Given the description of an element on the screen output the (x, y) to click on. 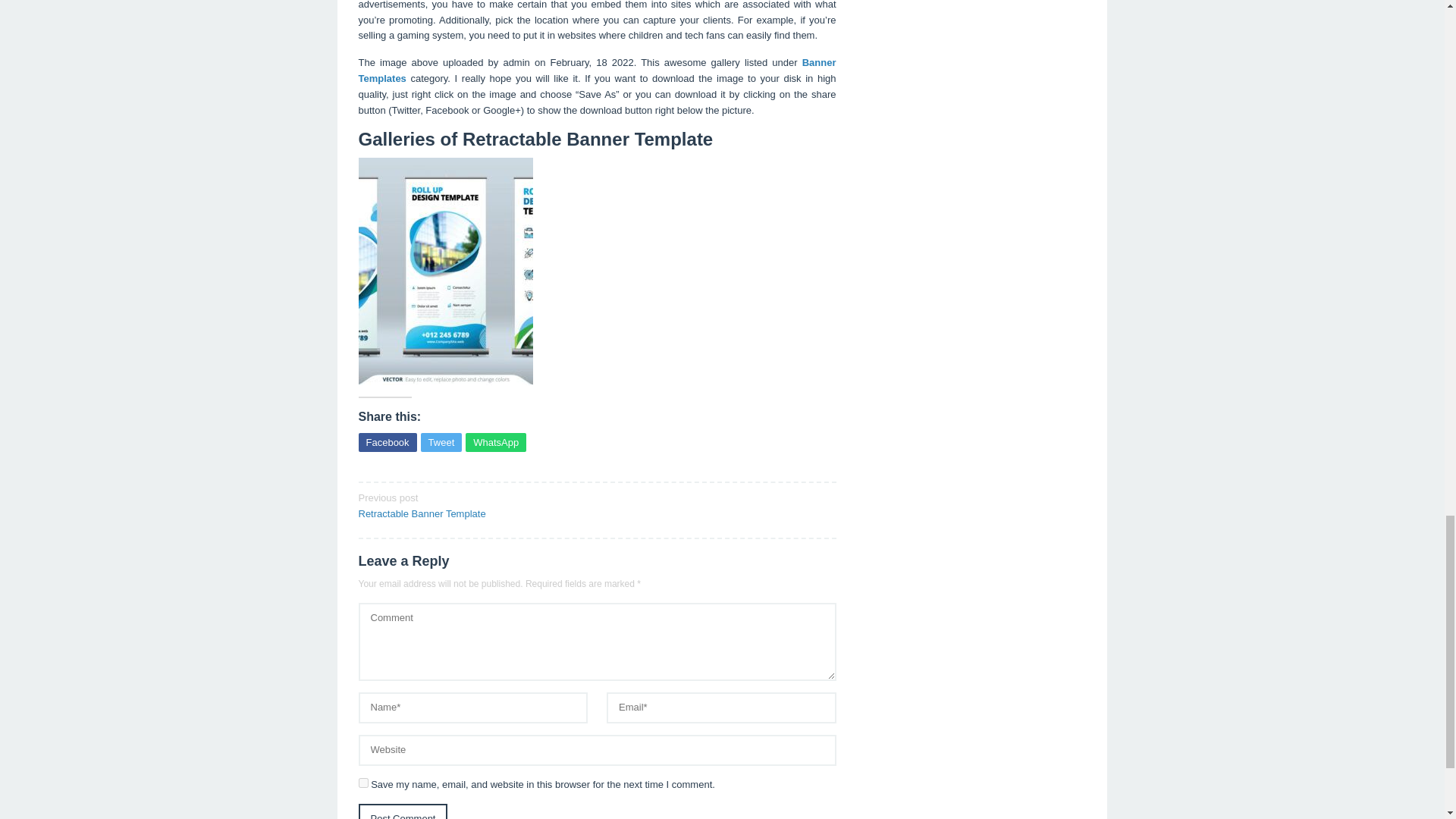
Post Comment (402, 811)
WhatsApp this (495, 442)
Facebook (387, 442)
Tweet (441, 442)
Post Comment (402, 811)
WhatsApp (495, 442)
Share this (472, 504)
yes (387, 442)
Tweet this (363, 782)
Banner Templates (441, 442)
